Given the description of an element on the screen output the (x, y) to click on. 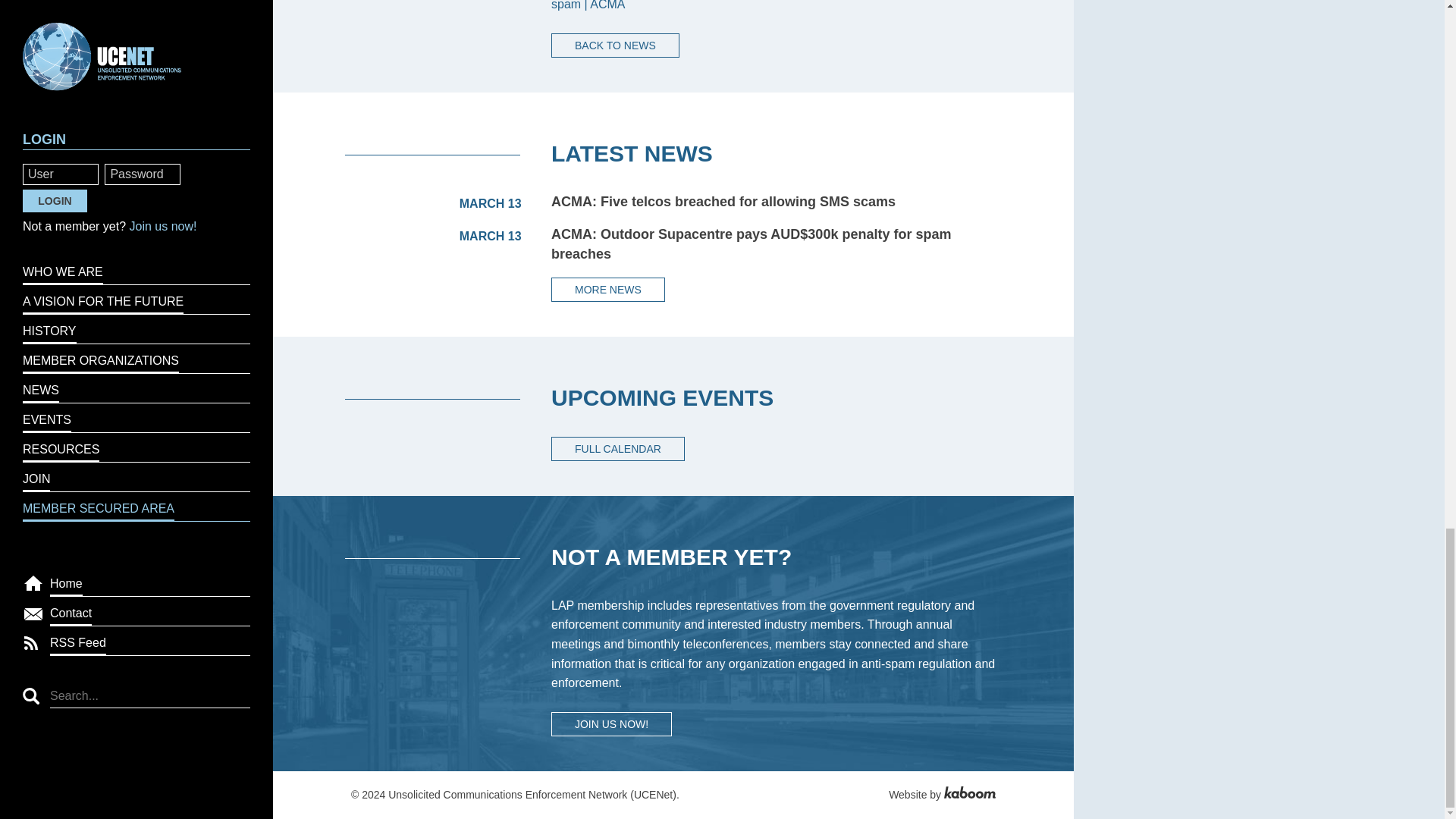
MORE NEWS (608, 289)
FULL CALENDAR (617, 448)
BACK TO NEWS (615, 45)
ACMA: Five telcos breached for allowing SMS scams (723, 201)
Kaboom (969, 794)
ACMA: Five telcos breached for allowing SMS scams (723, 201)
JOIN US NOW! (611, 723)
